Given the description of an element on the screen output the (x, y) to click on. 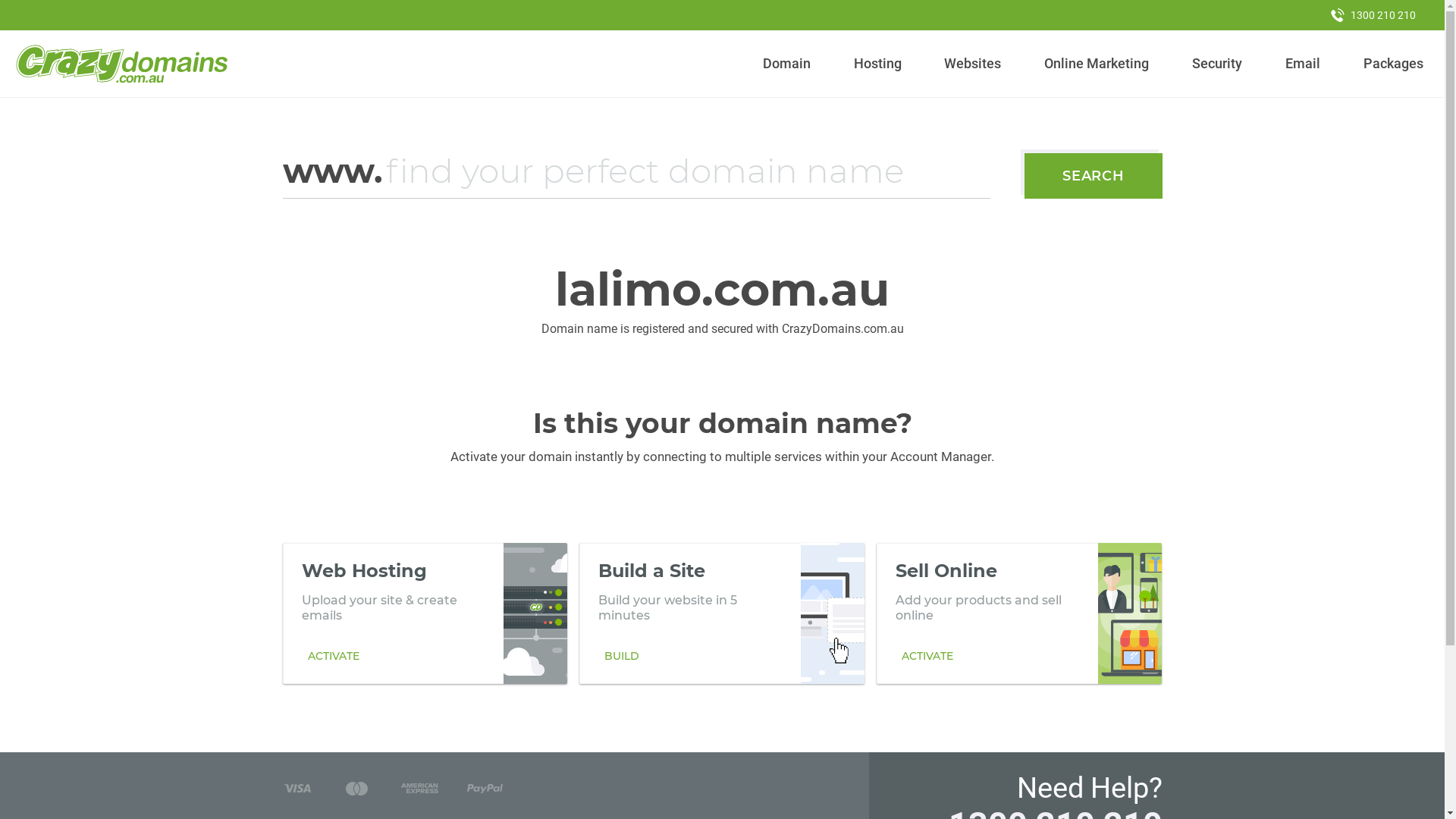
Security Element type: text (1217, 63)
Hosting Element type: text (877, 63)
Domain Element type: text (786, 63)
Build a Site
Build your website in 5 minutes
BUILD Element type: text (721, 613)
SEARCH Element type: text (1092, 175)
Web Hosting
Upload your site & create emails
ACTIVATE Element type: text (424, 613)
Sell Online
Add your products and sell online
ACTIVATE Element type: text (1018, 613)
Email Element type: text (1302, 63)
1300 210 210 Element type: text (1373, 15)
Packages Element type: text (1392, 63)
Websites Element type: text (972, 63)
Online Marketing Element type: text (1096, 63)
